Given the description of an element on the screen output the (x, y) to click on. 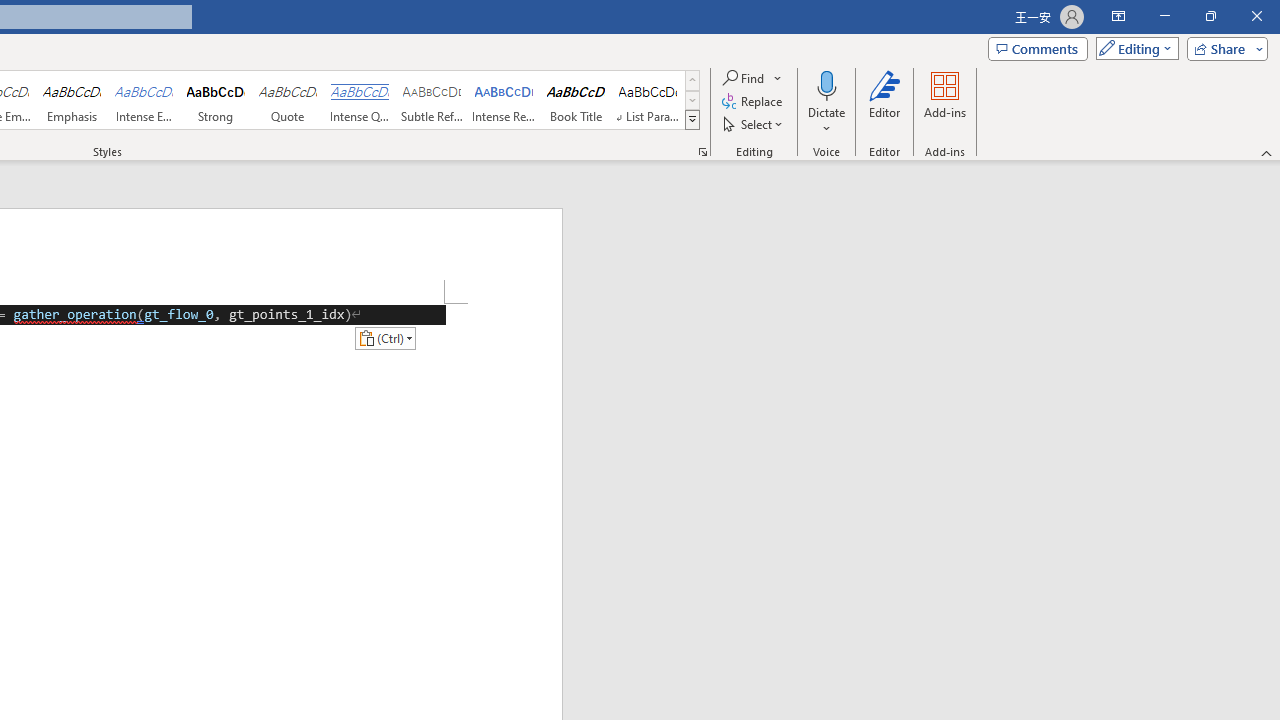
Subtle Reference (431, 100)
Intense Emphasis (143, 100)
Emphasis (71, 100)
